Given the description of an element on the screen output the (x, y) to click on. 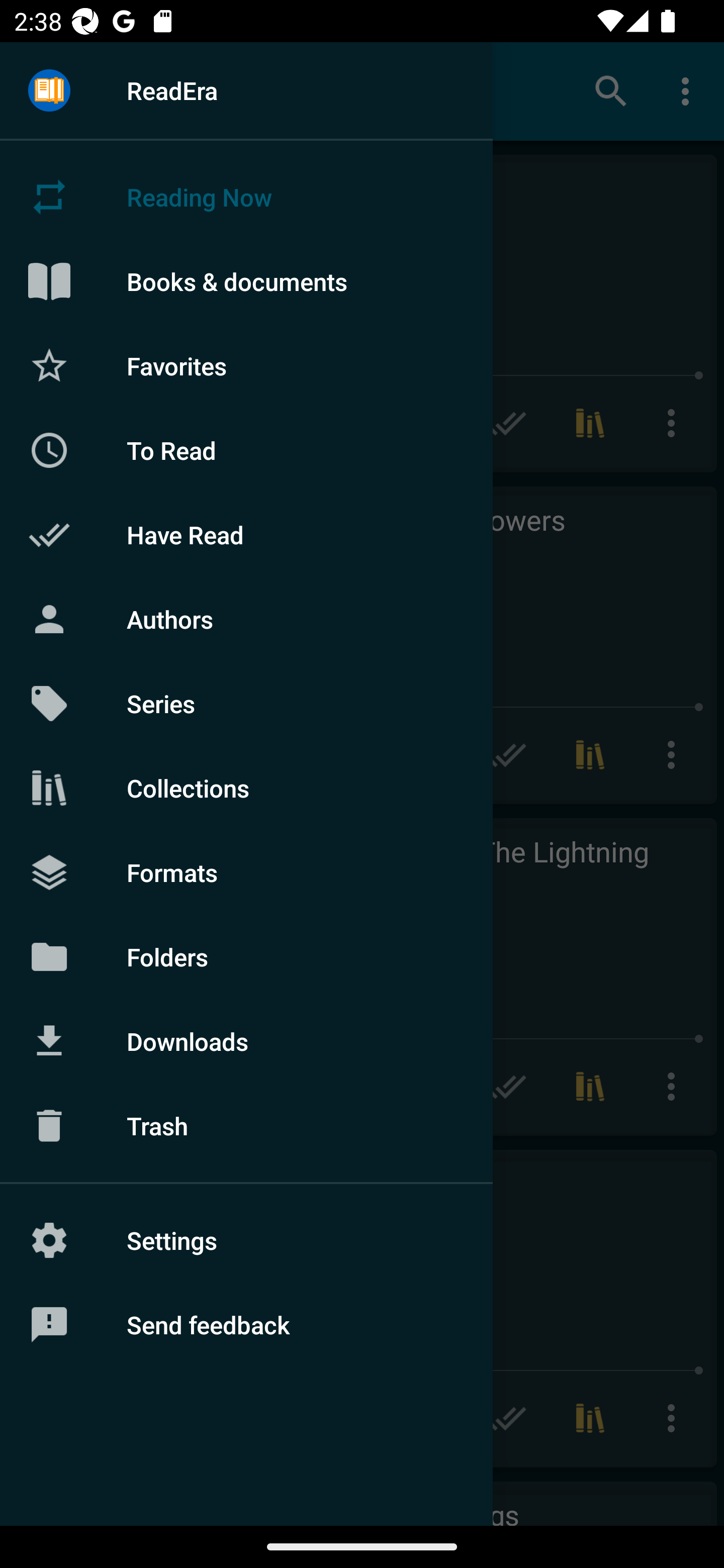
Menu (49, 91)
ReadEra (246, 89)
Search books & documents (611, 90)
More options (688, 90)
Reading Now (246, 197)
Books & documents (246, 281)
Favorites (246, 365)
To Read (246, 449)
Have Read (246, 534)
Authors (246, 619)
Series (246, 703)
Collections (246, 787)
Formats (246, 871)
Folders (246, 956)
Downloads (246, 1040)
Trash (246, 1125)
Settings (246, 1239)
Send feedback (246, 1324)
